Given the description of an element on the screen output the (x, y) to click on. 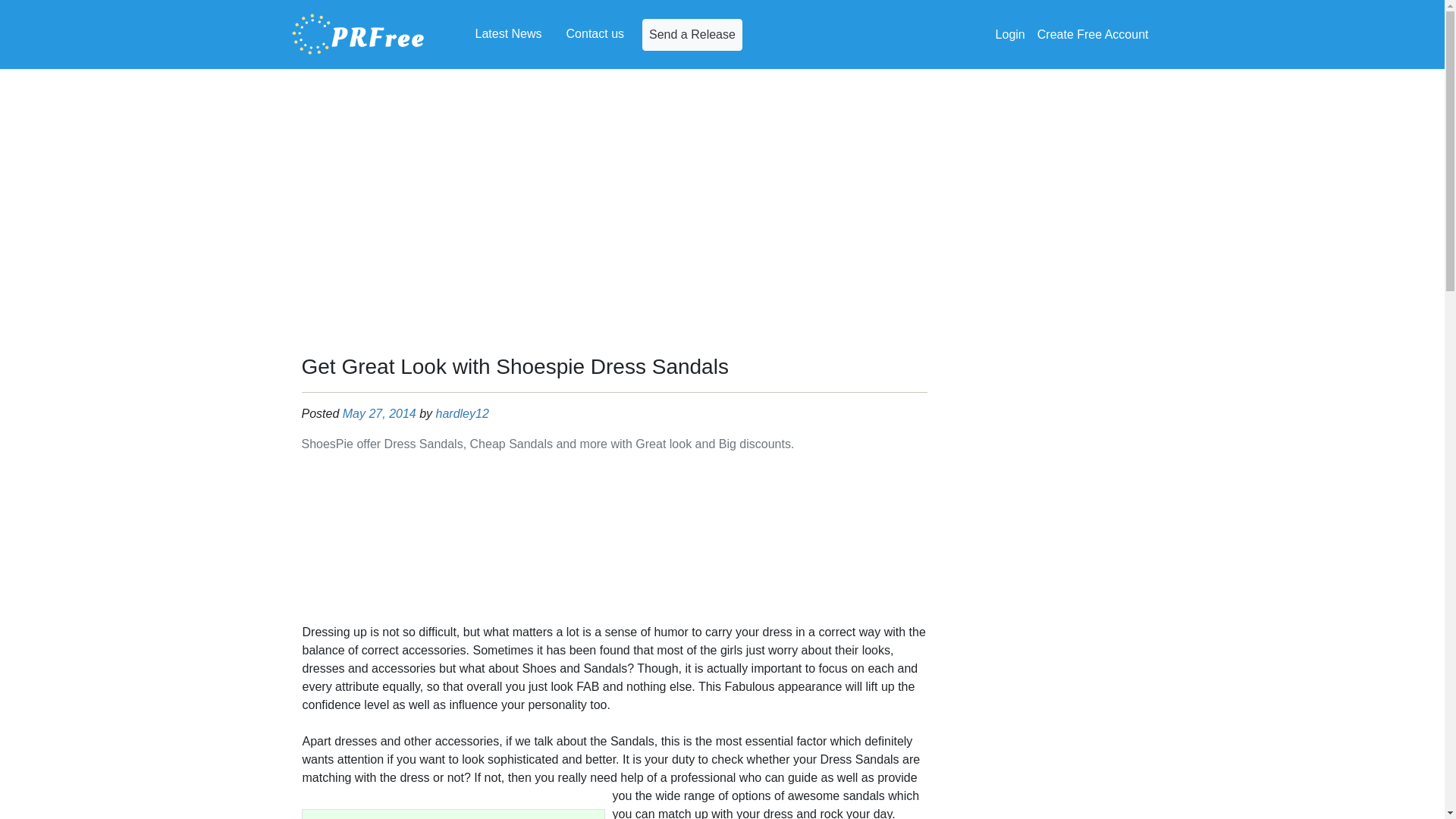
hardley12 (462, 413)
Latest News (507, 33)
Login (1010, 34)
Contact us (595, 33)
PFRree (357, 34)
Send a Release (692, 33)
Advertisement (614, 541)
Create Free Account (1092, 34)
May 27, 2014 (379, 413)
